Given the description of an element on the screen output the (x, y) to click on. 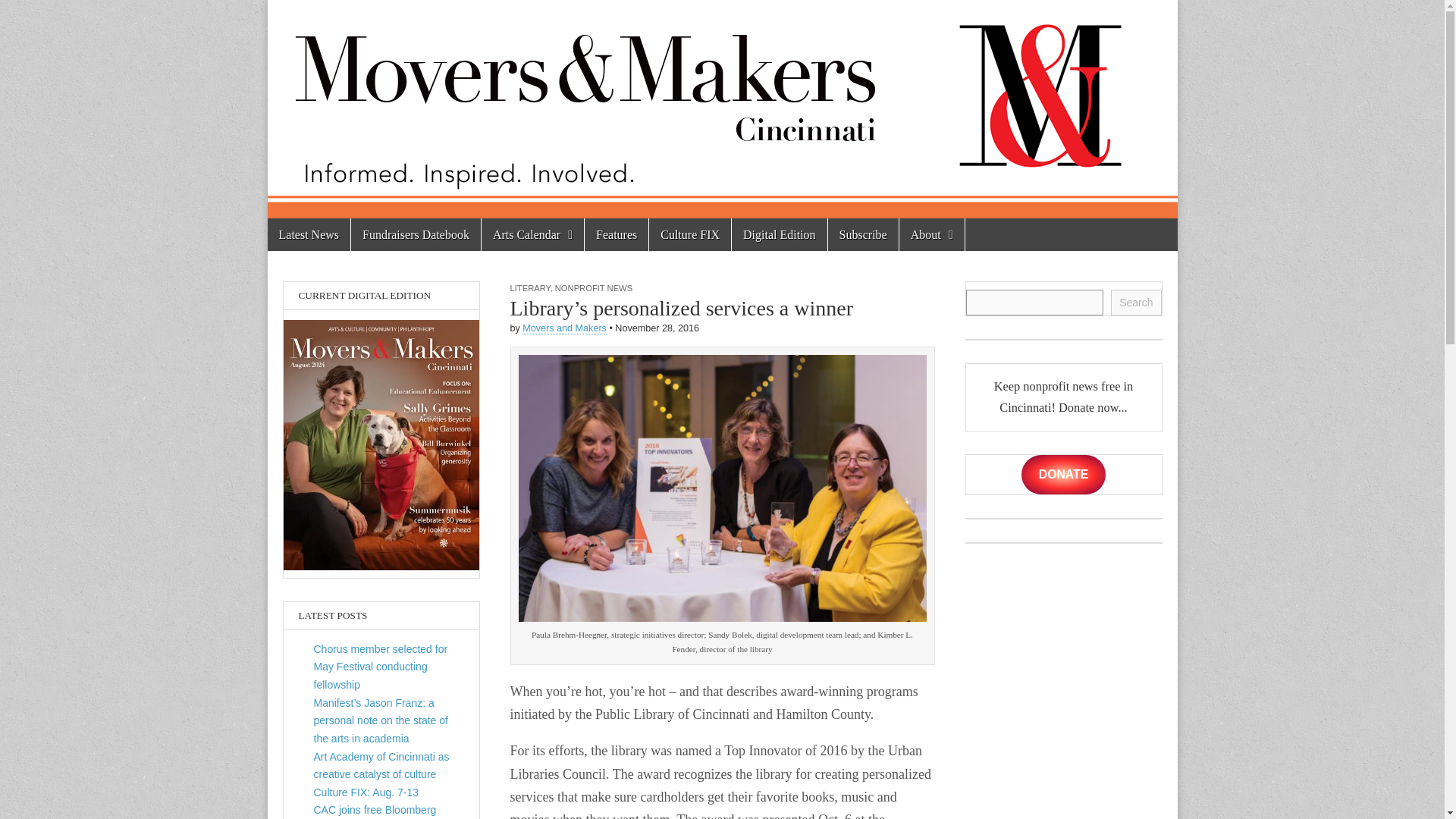
Features (616, 234)
Arts Calendar (532, 234)
Fundraisers Datebook (415, 234)
Subscribe (863, 234)
Latest News (308, 234)
Movers and Makers (564, 328)
Culture FIX (689, 234)
About (931, 234)
Posts by Movers and Makers (564, 328)
